Given the description of an element on the screen output the (x, y) to click on. 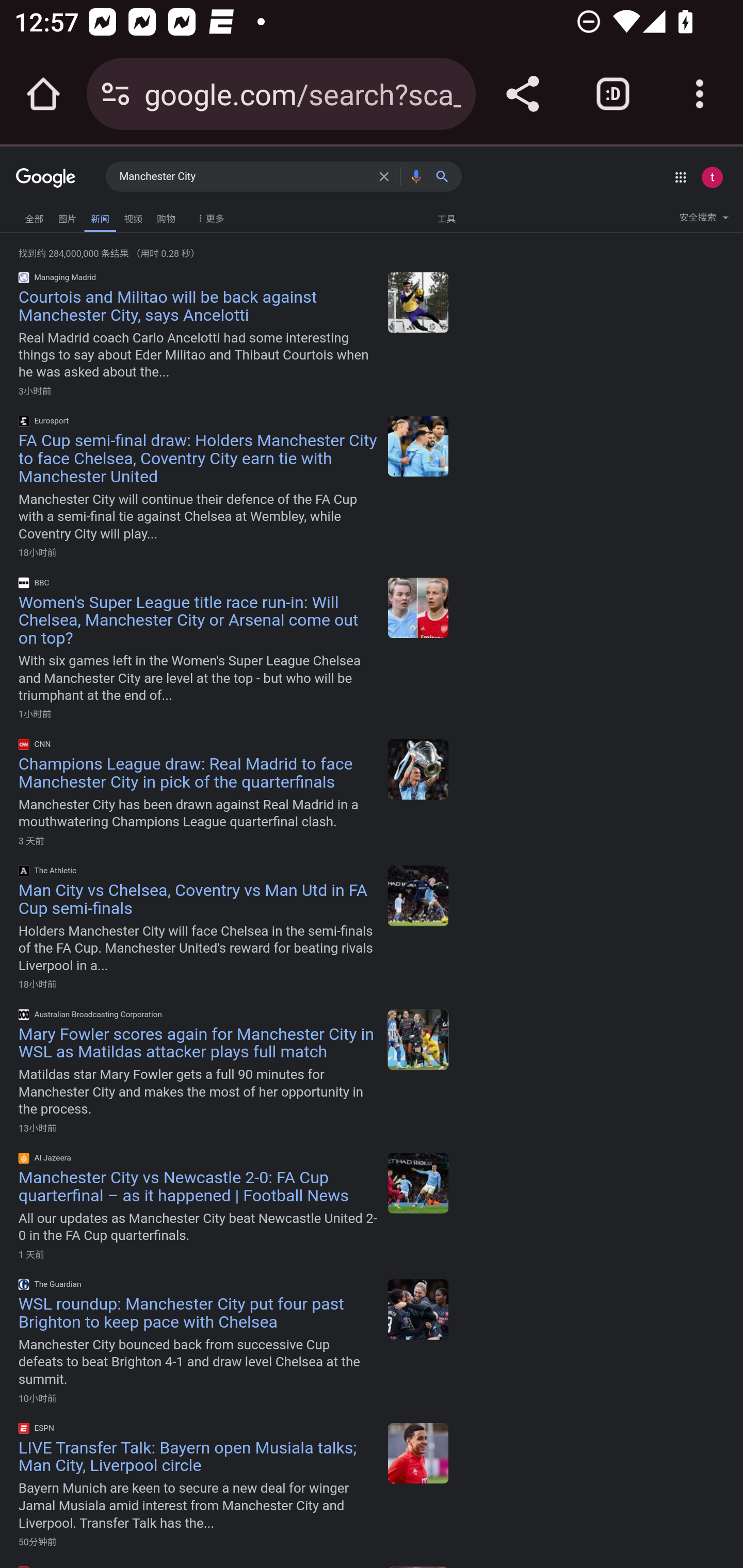
Open the home page (43, 93)
Connection is secure (115, 93)
Share (522, 93)
Switch or close tabs (612, 93)
Customize and control Google Chrome (699, 93)
清除 (386, 176)
按语音搜索 (415, 176)
Google 搜索 (446, 176)
Google 应用 (680, 176)
Google 账号： test appium (testappium002@gmail.com) (712, 176)
Google (45, 178)
Manchester City (244, 177)
全部 (33, 216)
图片 (67, 216)
新闻 (99, 217)
视频 (133, 216)
购物 (166, 216)
More Filters (208, 213)
安全搜索 (703, 219)
工具 (446, 217)
